Given the description of an element on the screen output the (x, y) to click on. 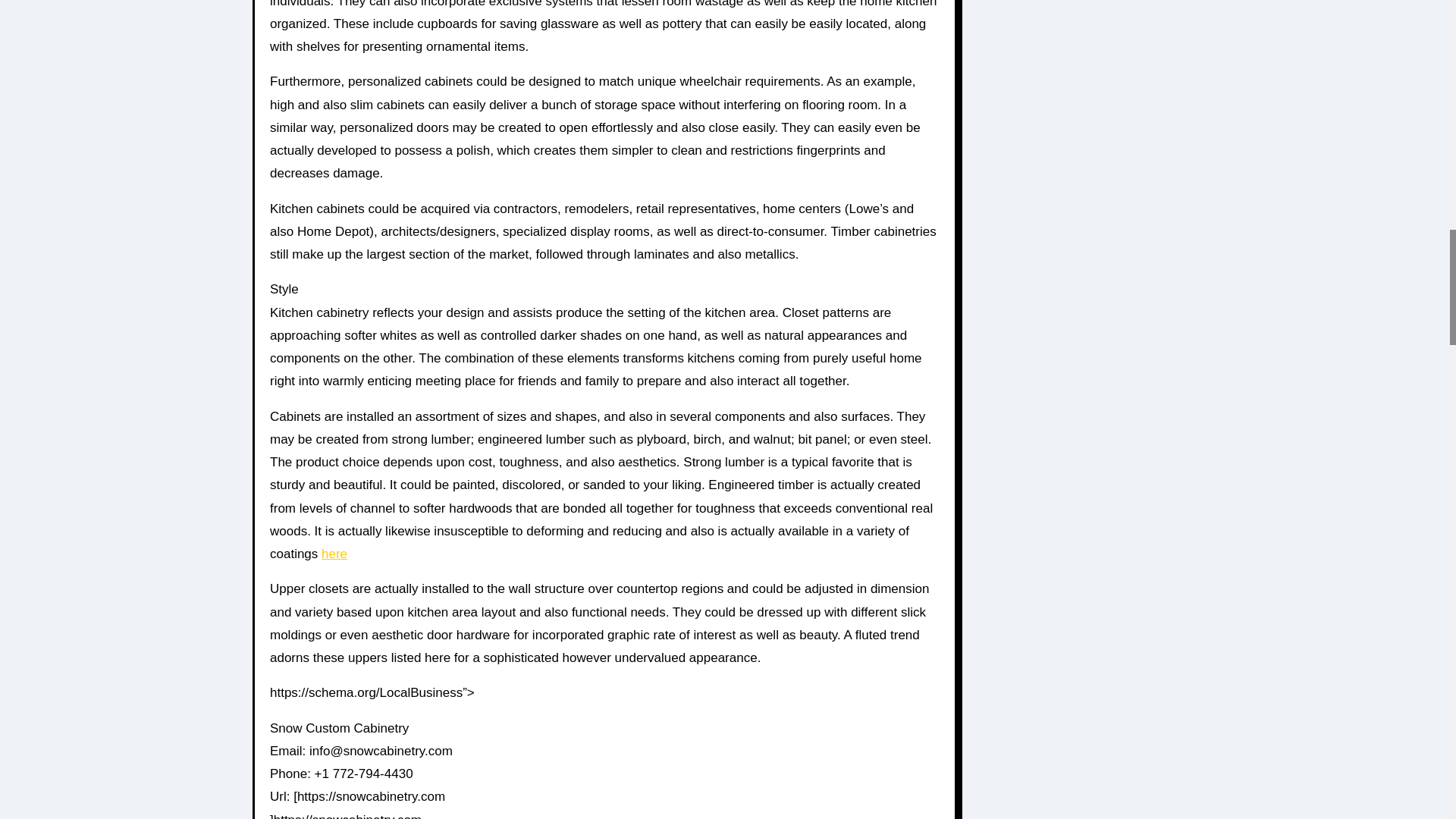
here (334, 554)
